Given the description of an element on the screen output the (x, y) to click on. 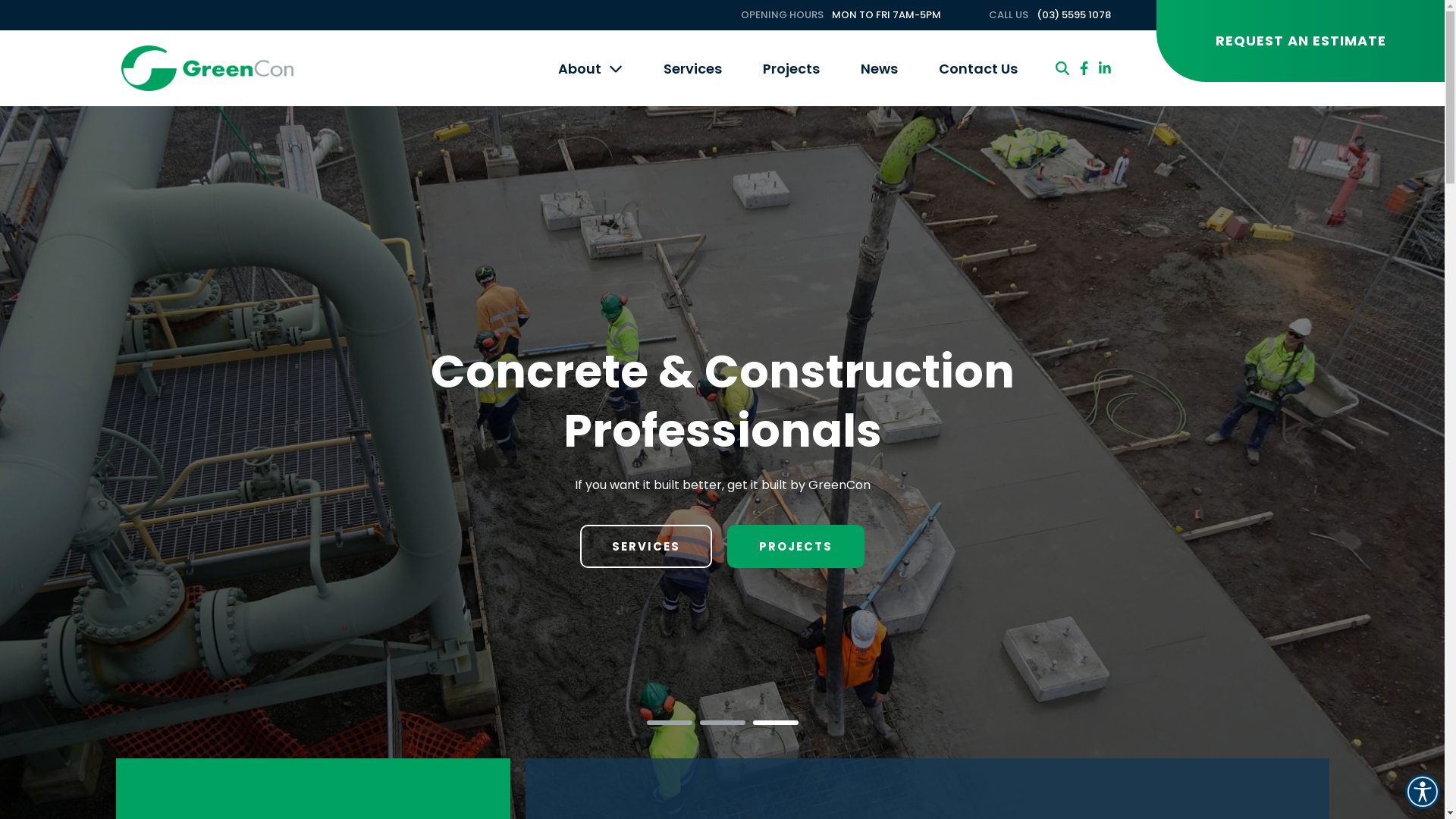
News Element type: text (878, 68)
Contact Us Element type: text (977, 68)
About Element type: text (590, 68)
PROJECTS Element type: text (795, 545)
Projects Element type: text (790, 68)
REQUEST AN ESTIMATE Element type: text (1300, 40)
(03) 5595 1078 Element type: text (1073, 14)
Services Element type: text (692, 68)
SERVICES Element type: text (646, 545)
